Given the description of an element on the screen output the (x, y) to click on. 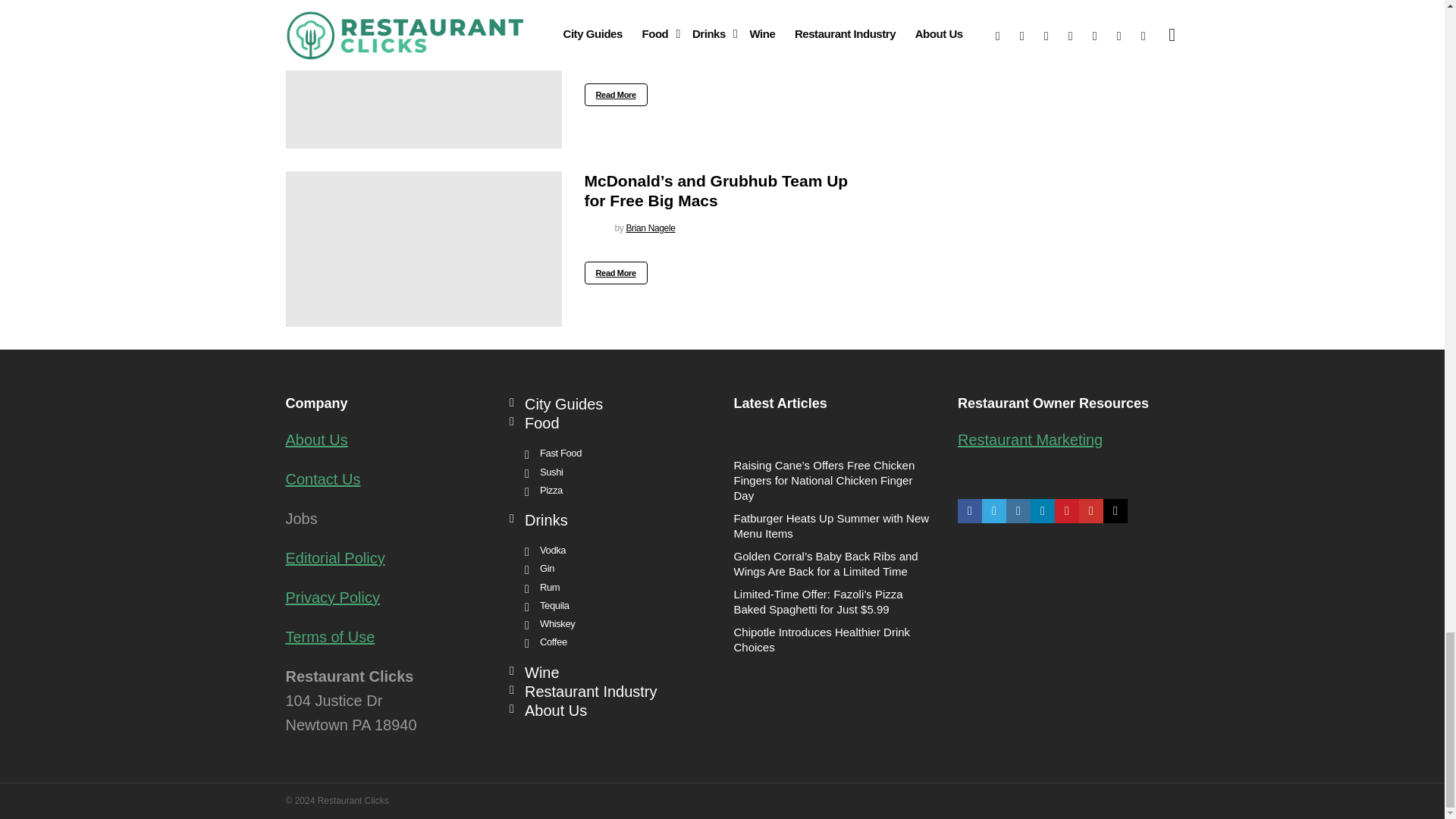
Chipotle Introduces Healthier Drink Choices (422, 74)
Posts by Brian Nagele (650, 50)
Posts by Brian Nagele (650, 227)
